Given the description of an element on the screen output the (x, y) to click on. 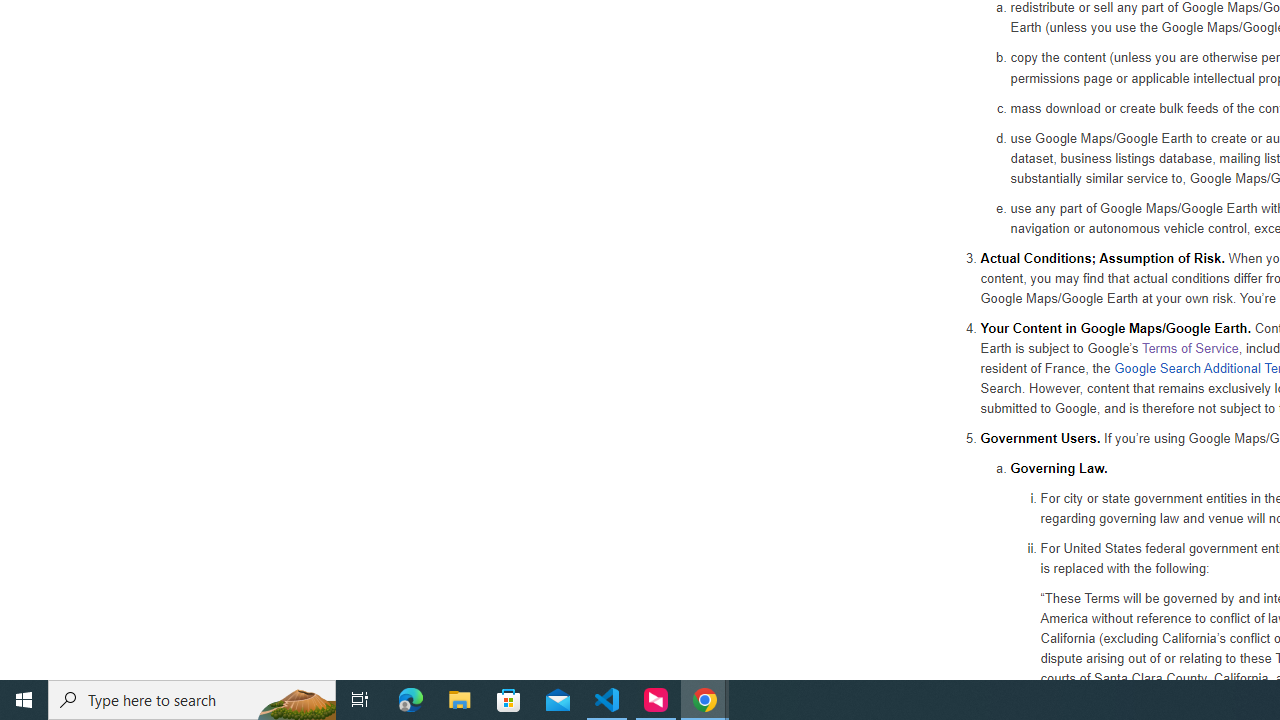
Terms of Service (1189, 347)
